Given the description of an element on the screen output the (x, y) to click on. 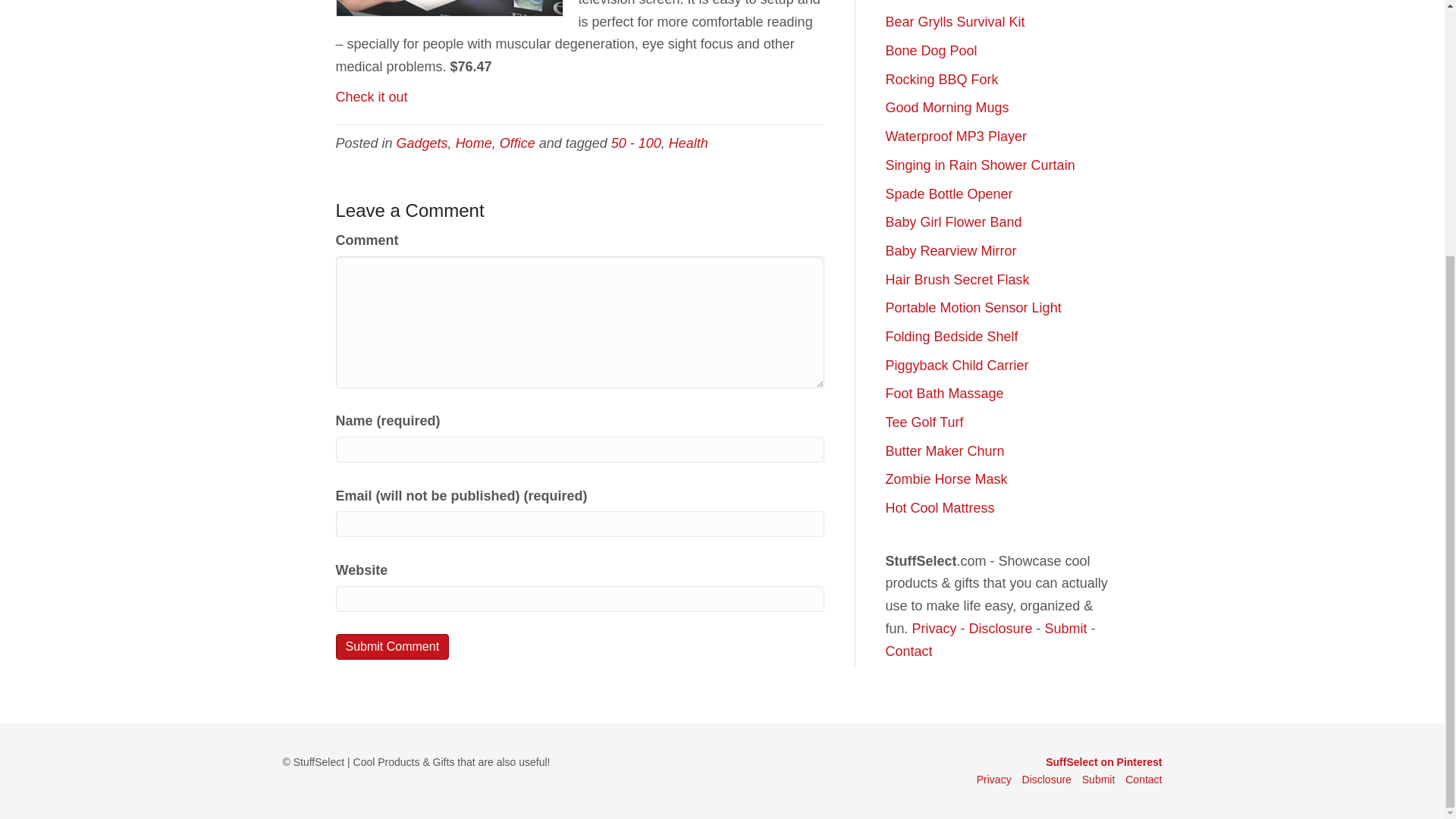
Submit Comment (391, 646)
Office (517, 142)
Bear Grylls Survival Kit (955, 21)
Check it out (370, 96)
Health (687, 142)
Gadgets (422, 142)
Submit Comment (391, 646)
Home (473, 142)
50 - 100 (636, 142)
